Given the description of an element on the screen output the (x, y) to click on. 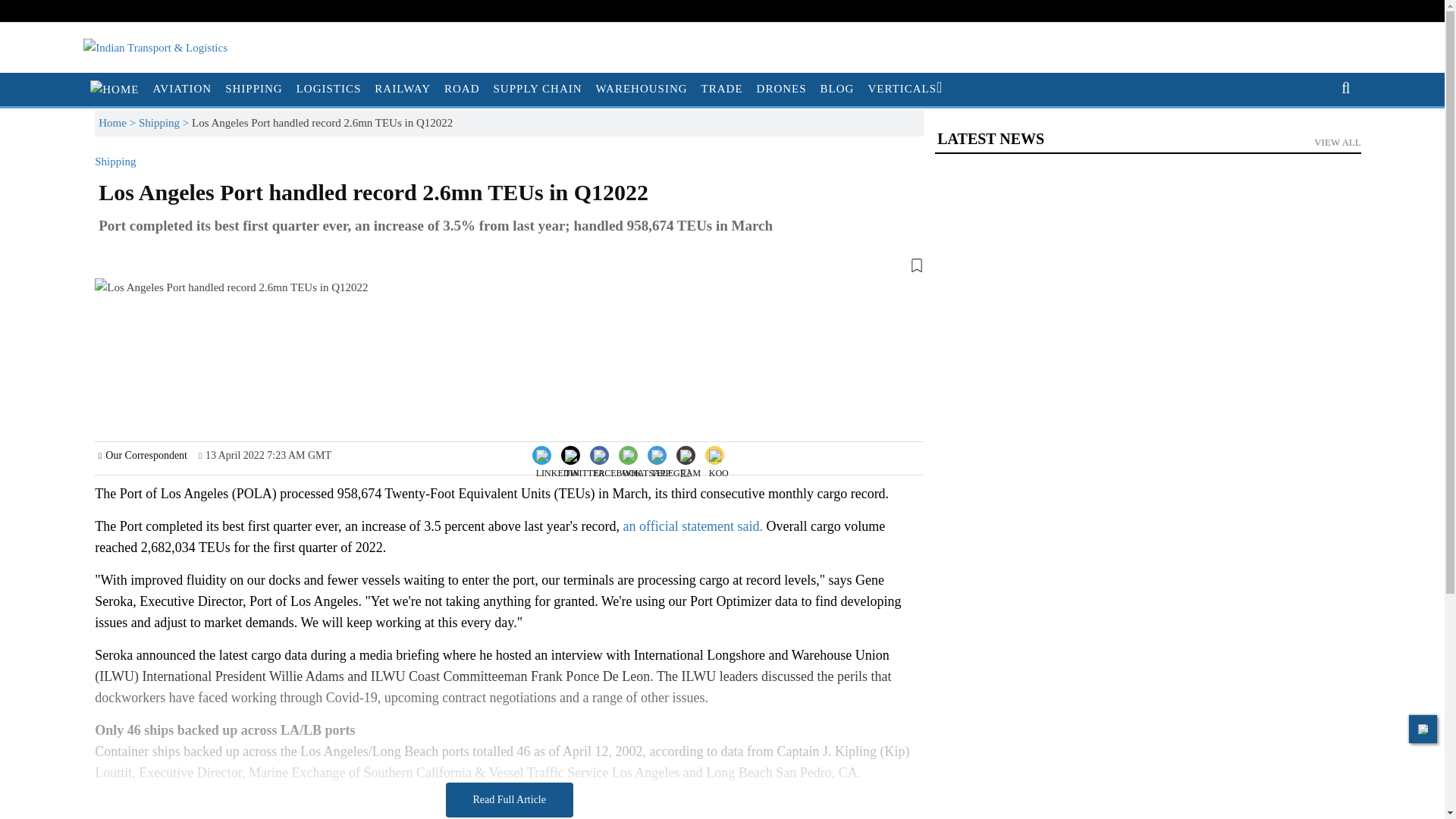
ROAD (462, 88)
koo (719, 466)
WAREHOUSING (641, 88)
home (114, 89)
Twitter (584, 453)
LinkedIn (557, 453)
whatsapp (646, 466)
SUPPLY CHAIN (537, 88)
Los Angeles Port handled record 2.6mn TEUs in Q12022 (231, 350)
Email (686, 466)
LOGISTICS (328, 88)
AVIATION (181, 88)
search here (1340, 87)
linkedin (557, 466)
telegram (675, 466)
